Given the description of an element on the screen output the (x, y) to click on. 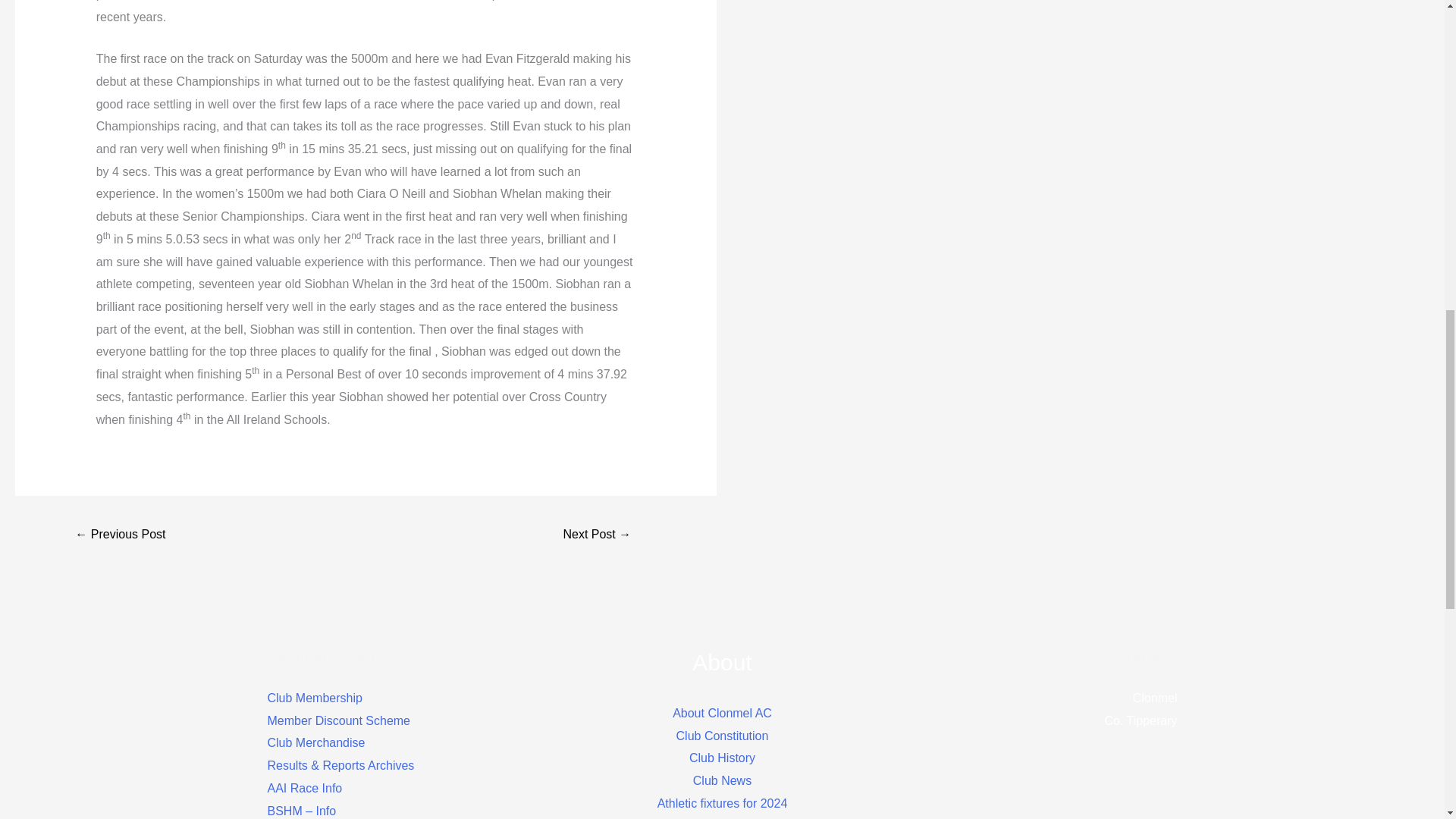
Sean Tobin breaks 14 minutes for 5k (119, 535)
Great performances at the CIT Track meet (597, 535)
